Given the description of an element on the screen output the (x, y) to click on. 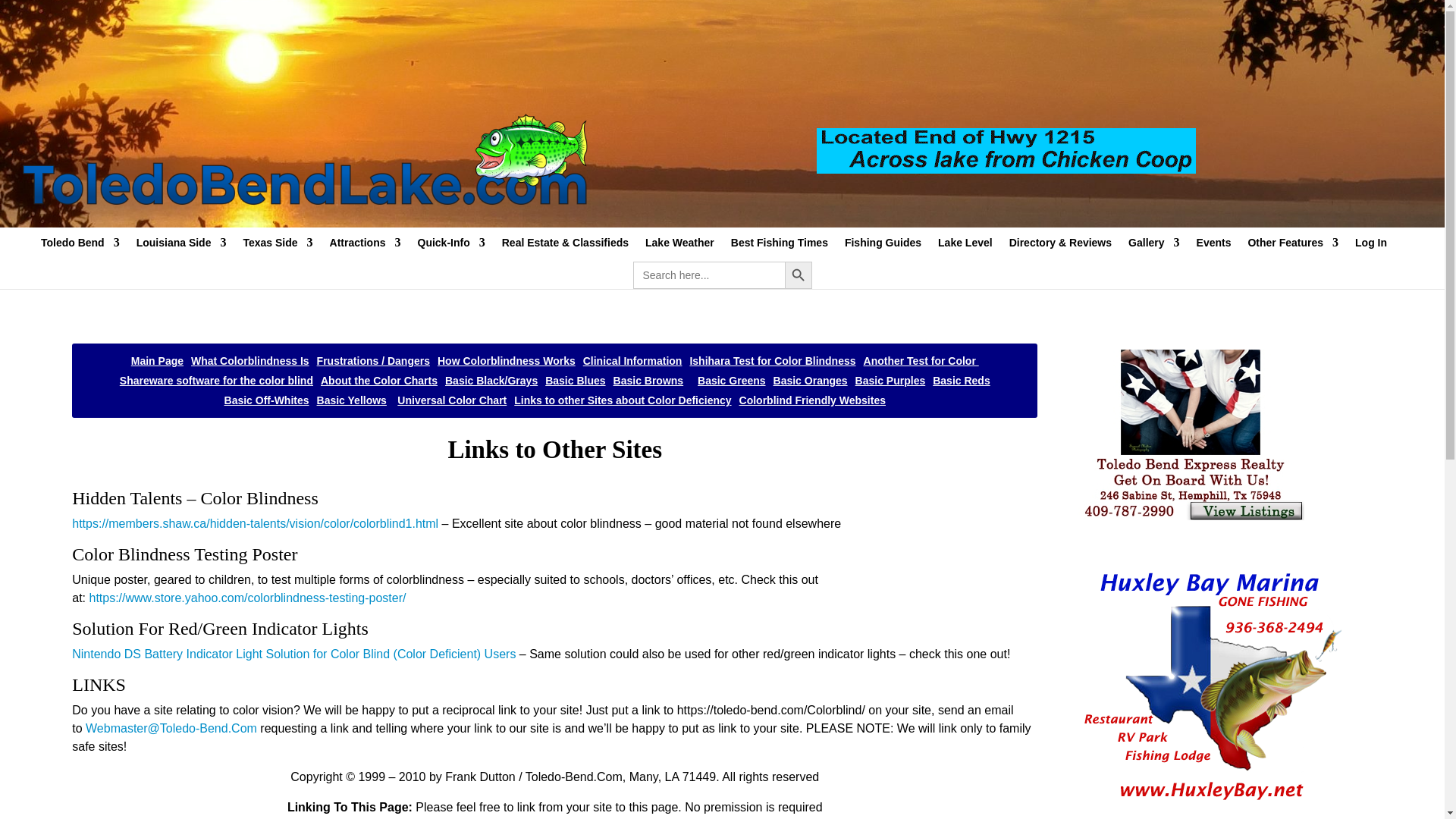
Toledo Bend (79, 249)
